Given the description of an element on the screen output the (x, y) to click on. 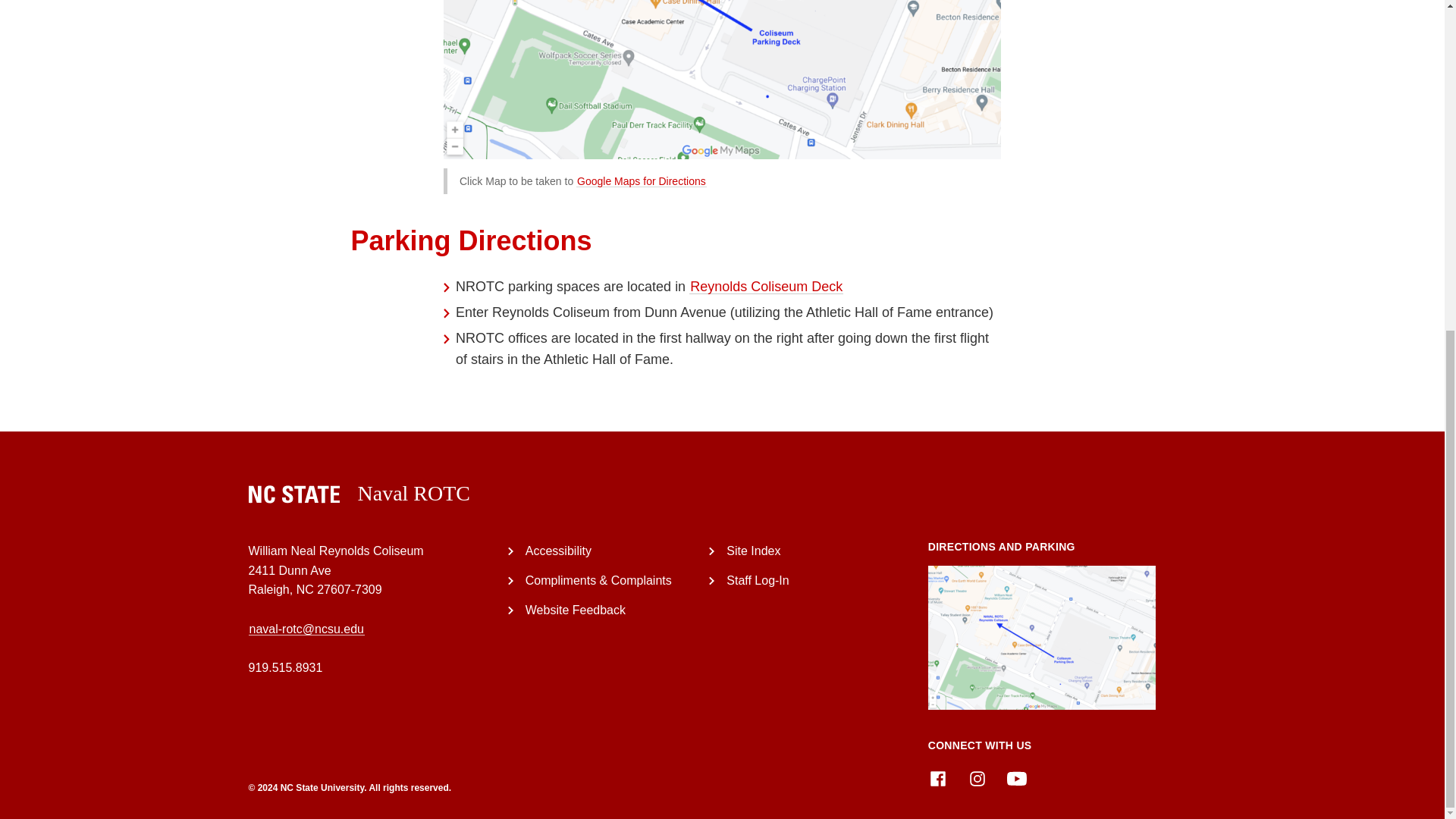
YouTube (1016, 778)
Instagram (977, 778)
Facebook (937, 778)
